Given the description of an element on the screen output the (x, y) to click on. 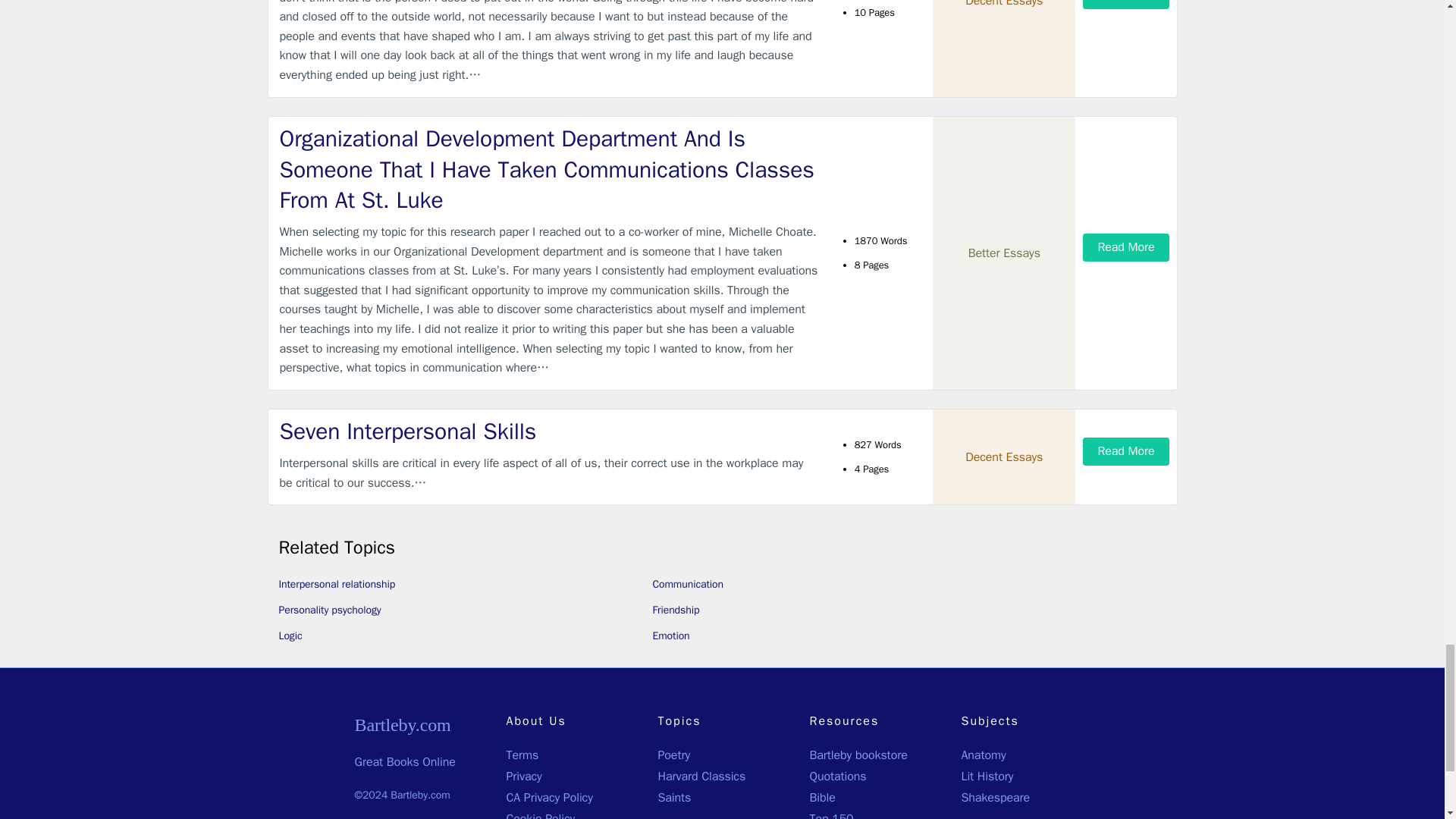
Personality psychology (330, 609)
Emotion (670, 635)
Interpersonal relationship (337, 584)
Communication (687, 584)
Friendship (675, 609)
Logic (290, 635)
